Given the description of an element on the screen output the (x, y) to click on. 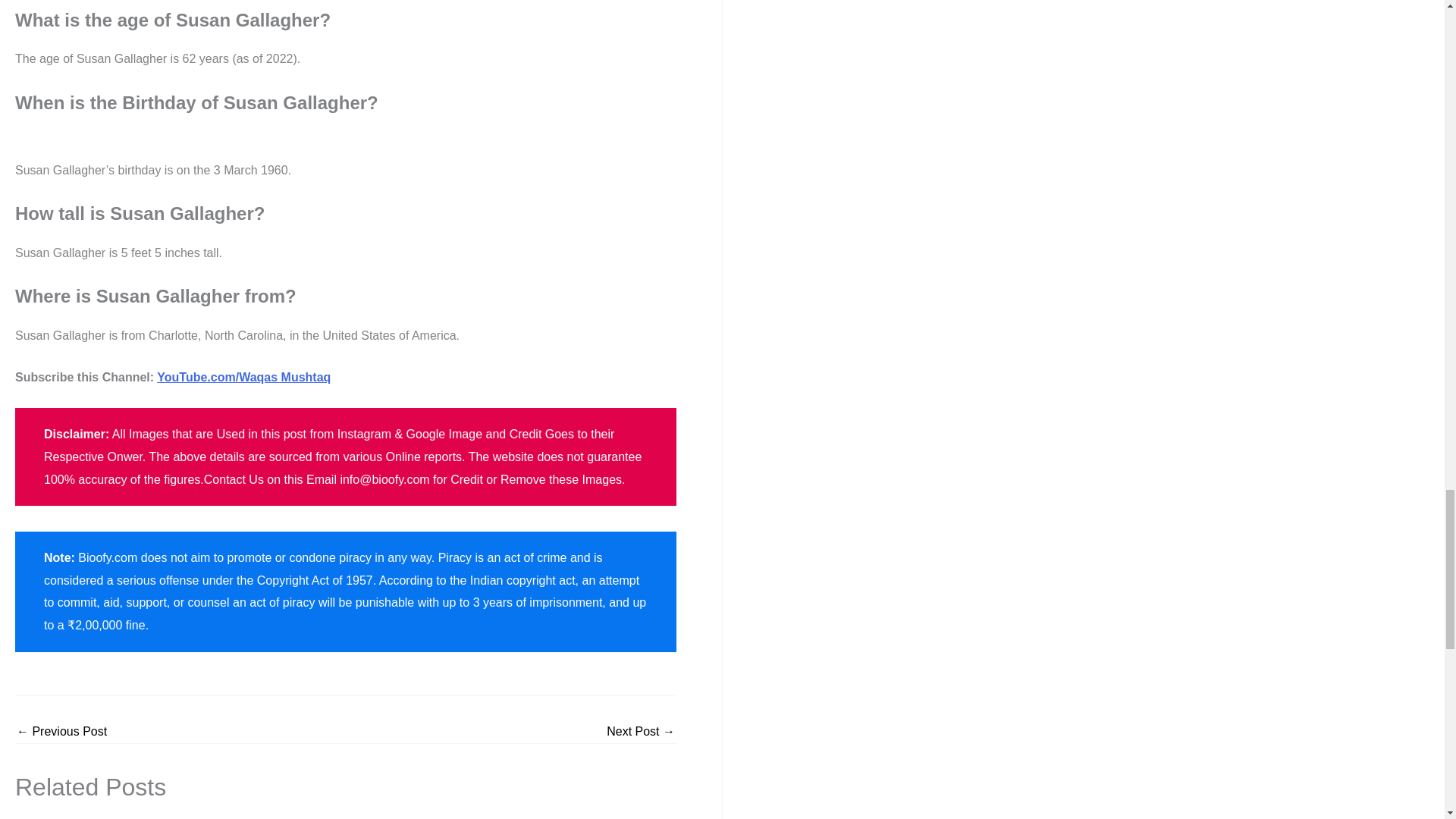
Kwajalyn Brown Biography, Age, Height, Weight, Net Worth (641, 731)
